Given the description of an element on the screen output the (x, y) to click on. 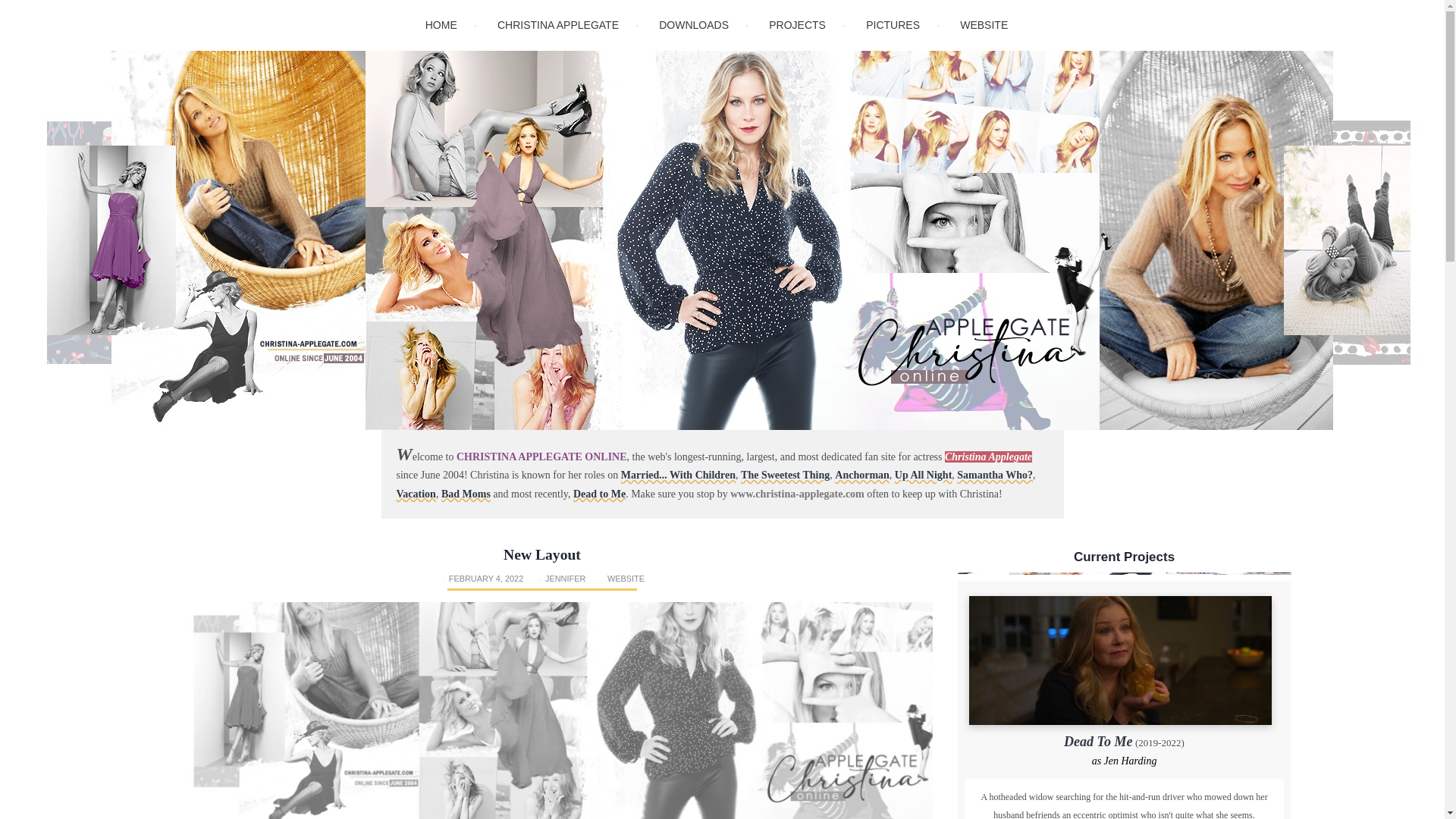
DOWNLOADS (693, 24)
CHRISTINA APPLEGATE (558, 24)
PICTURES (892, 24)
HOME (441, 24)
WEBSITE (984, 24)
PROJECTS (796, 24)
www.christina-applegate.com (797, 493)
